Given the description of an element on the screen output the (x, y) to click on. 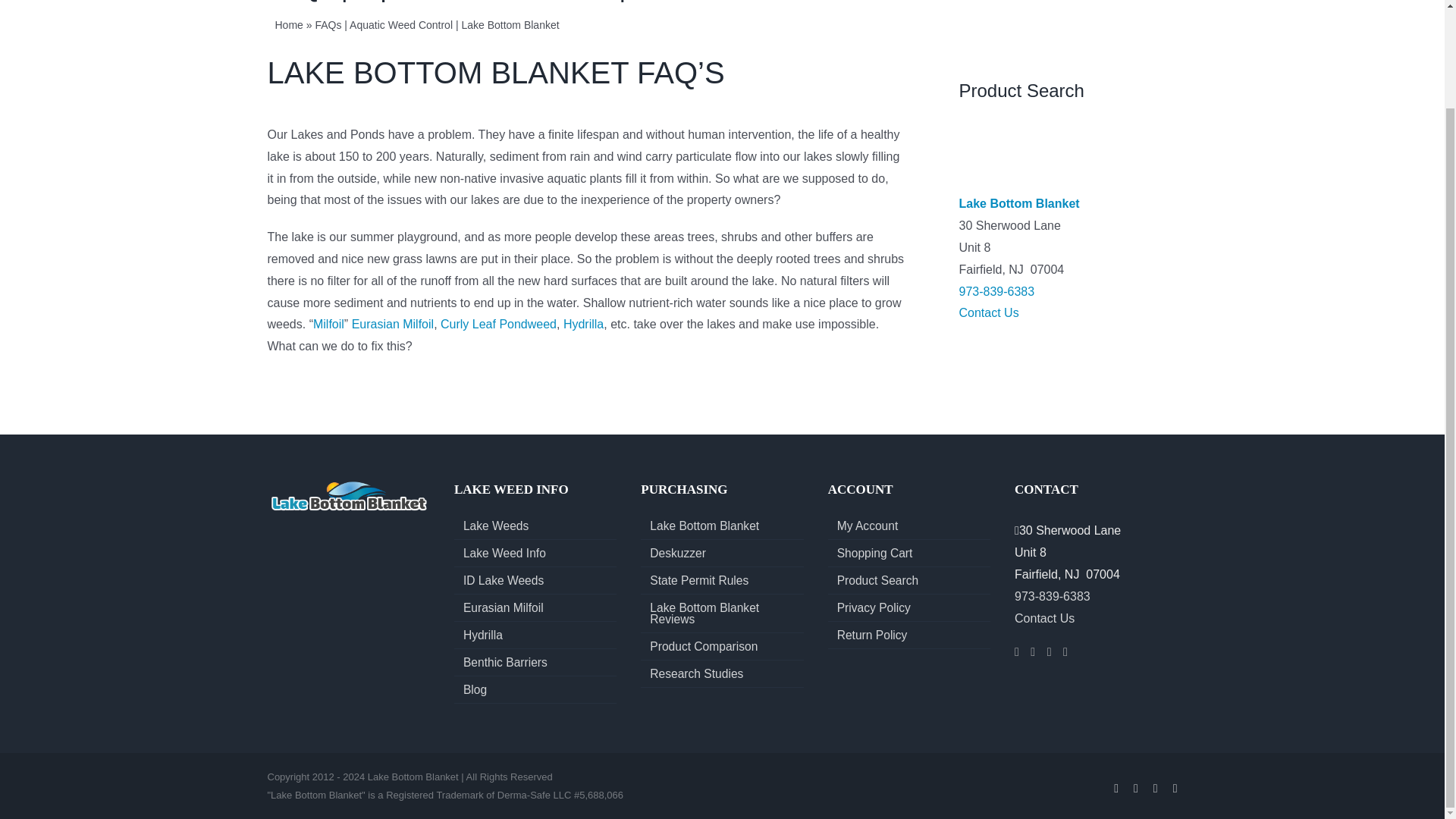
Milfoil (328, 323)
Eurasian Milfoil (392, 323)
curly leaf pondweed (498, 323)
contact lake weed bottom (987, 312)
Milfoil (328, 323)
Curly Leaf Pondweed (498, 323)
Home (288, 24)
Hydrilla (583, 323)
